Given the description of an element on the screen output the (x, y) to click on. 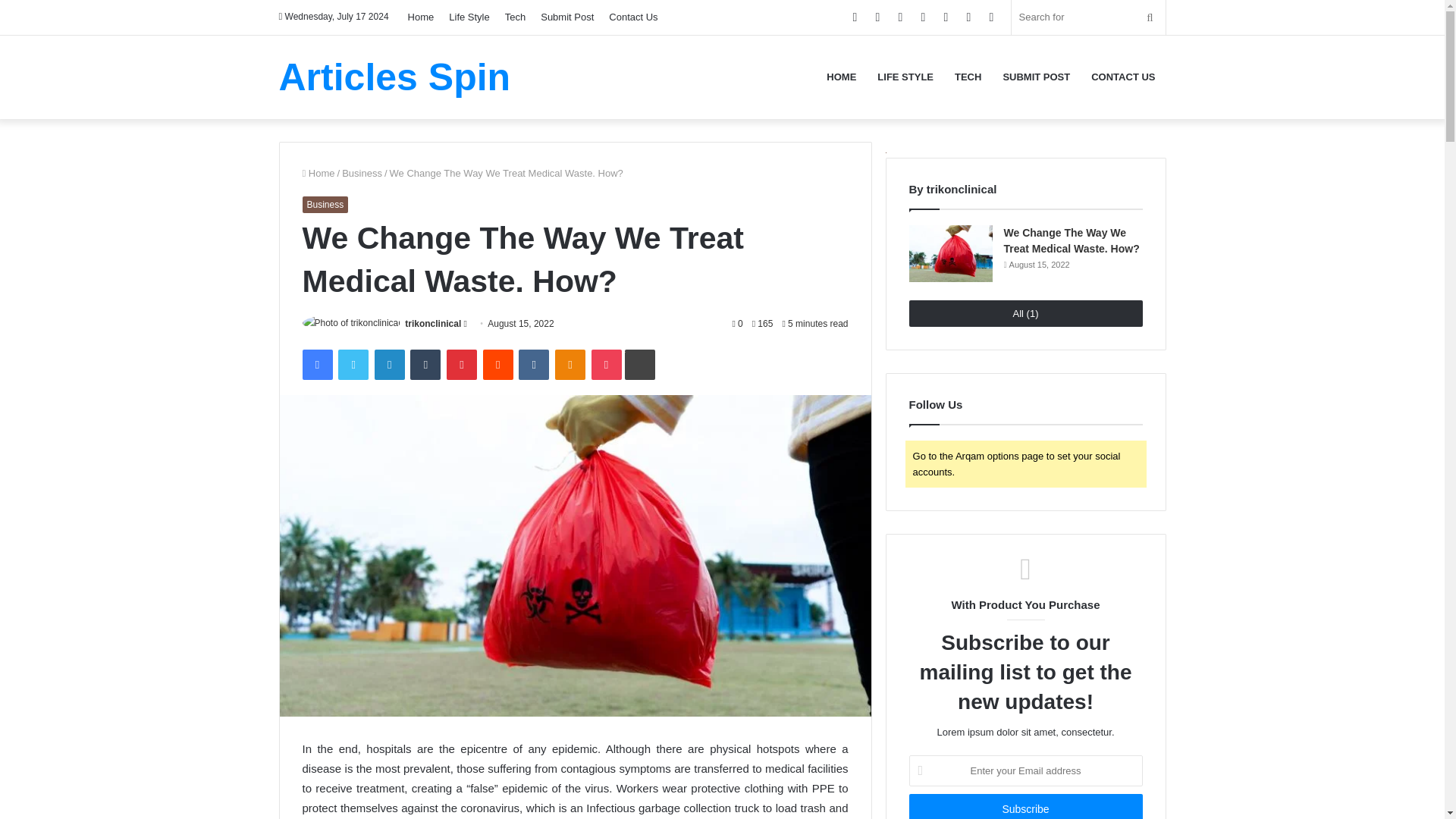
Twitter (352, 364)
SUBMIT POST (1035, 76)
VKontakte (533, 364)
VKontakte (533, 364)
Pinterest (461, 364)
Pinterest (461, 364)
Articles Spin (395, 76)
Tech (514, 17)
LinkedIn (389, 364)
Reddit (498, 364)
Facebook (316, 364)
Pocket (606, 364)
Articles Spin (395, 76)
Contact Us (633, 17)
Search for (1088, 17)
